Given the description of an element on the screen output the (x, y) to click on. 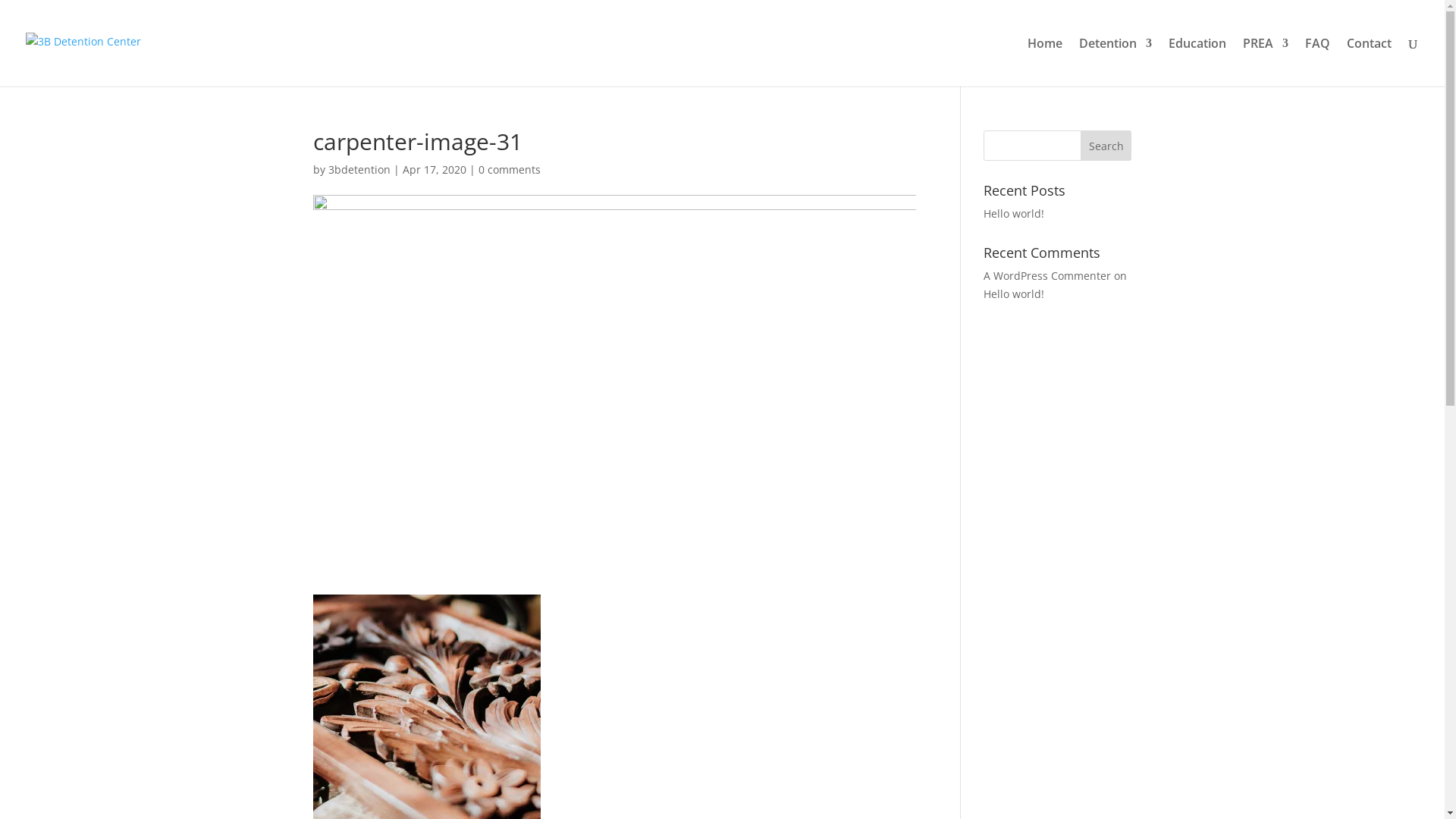
Home Element type: text (1044, 61)
A WordPress Commenter Element type: text (1046, 275)
Detention Element type: text (1115, 61)
FAQ Element type: text (1317, 61)
3bdetention Element type: text (358, 169)
PREA Element type: text (1265, 61)
Hello world! Element type: text (1013, 293)
Hello world! Element type: text (1013, 213)
Education Element type: text (1197, 61)
Contact Element type: text (1368, 61)
Search Element type: text (1106, 145)
0 comments Element type: text (508, 169)
